Given the description of an element on the screen output the (x, y) to click on. 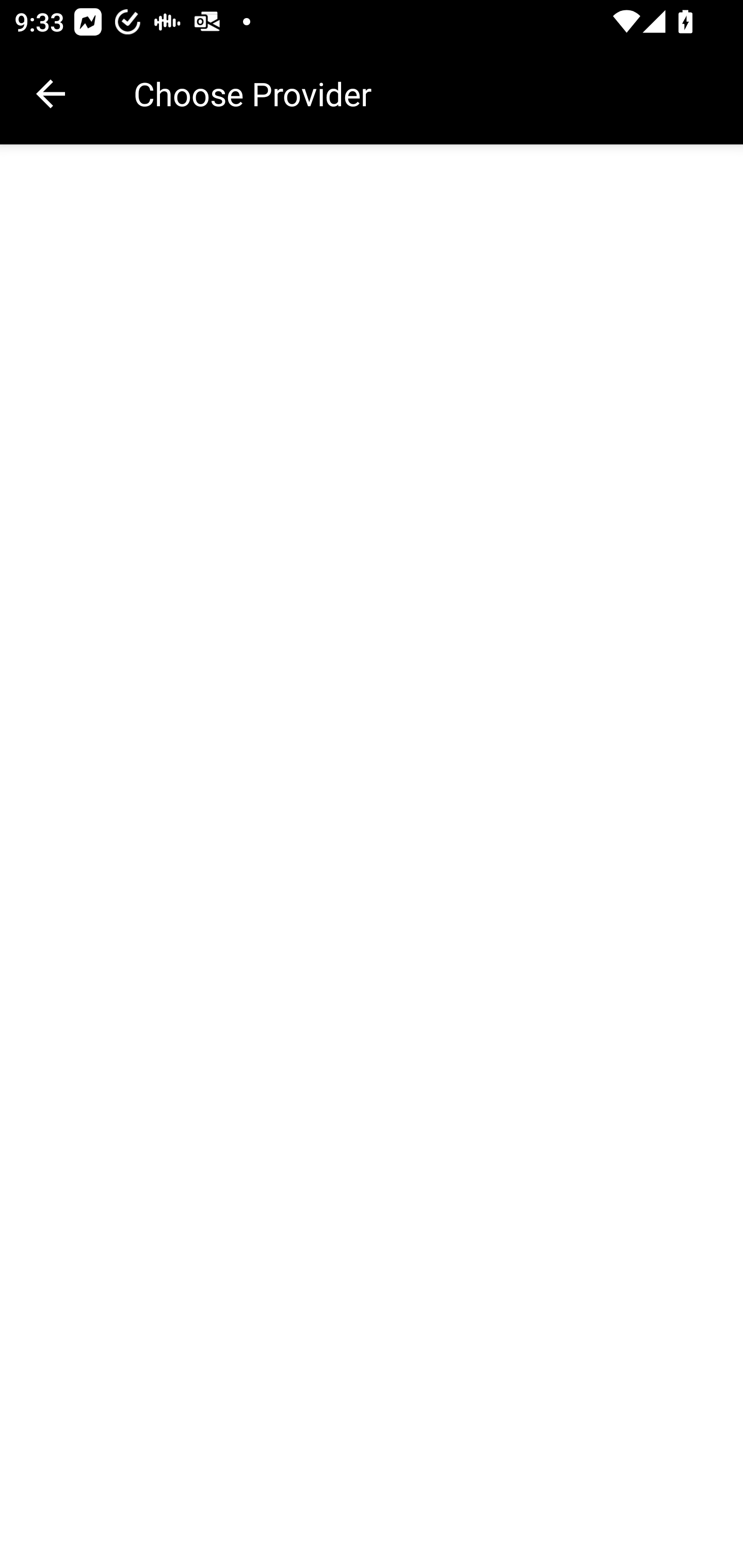
Navigate up (50, 93)
